Given the description of an element on the screen output the (x, y) to click on. 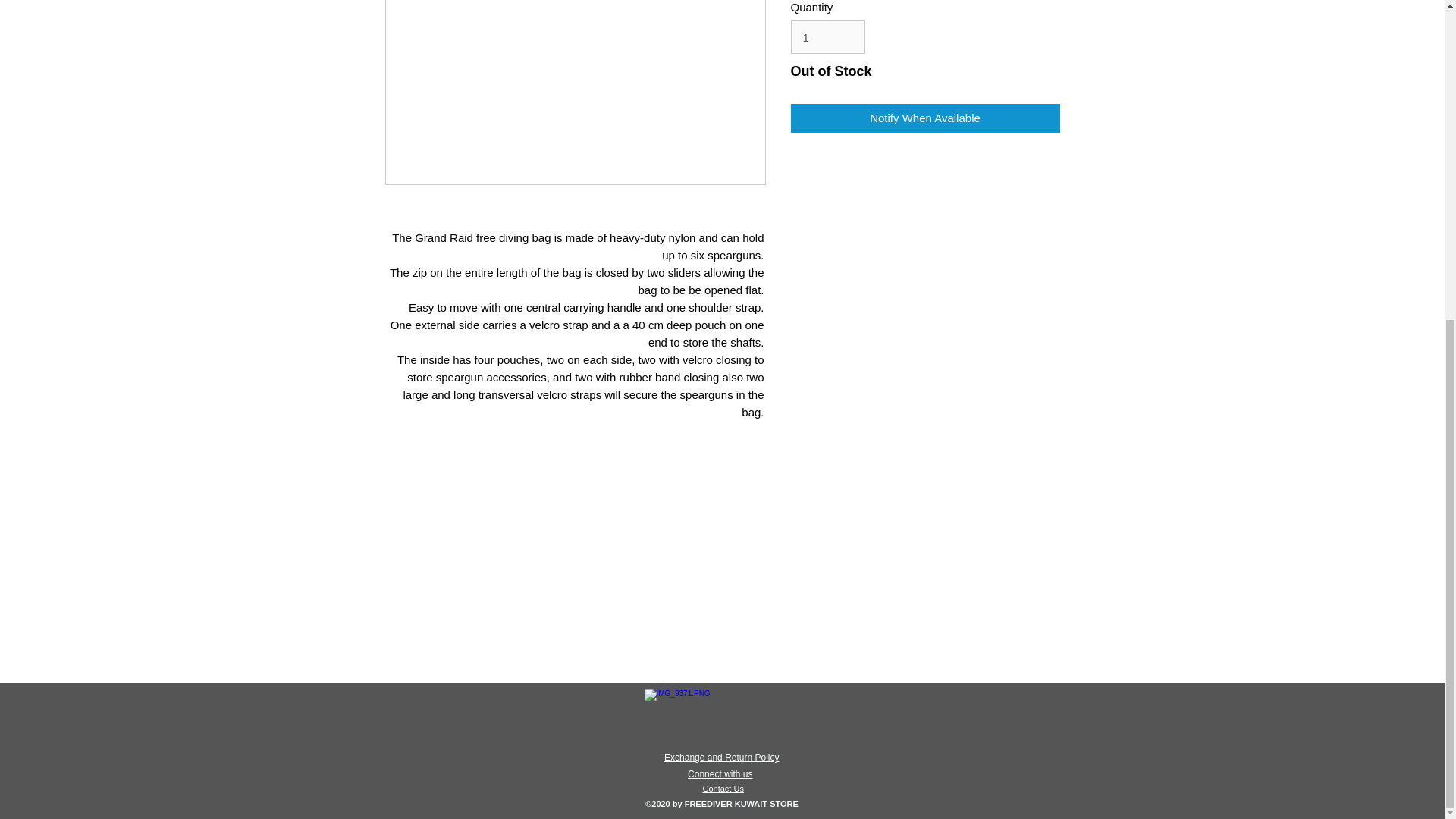
1 (827, 37)
